Given the description of an element on the screen output the (x, y) to click on. 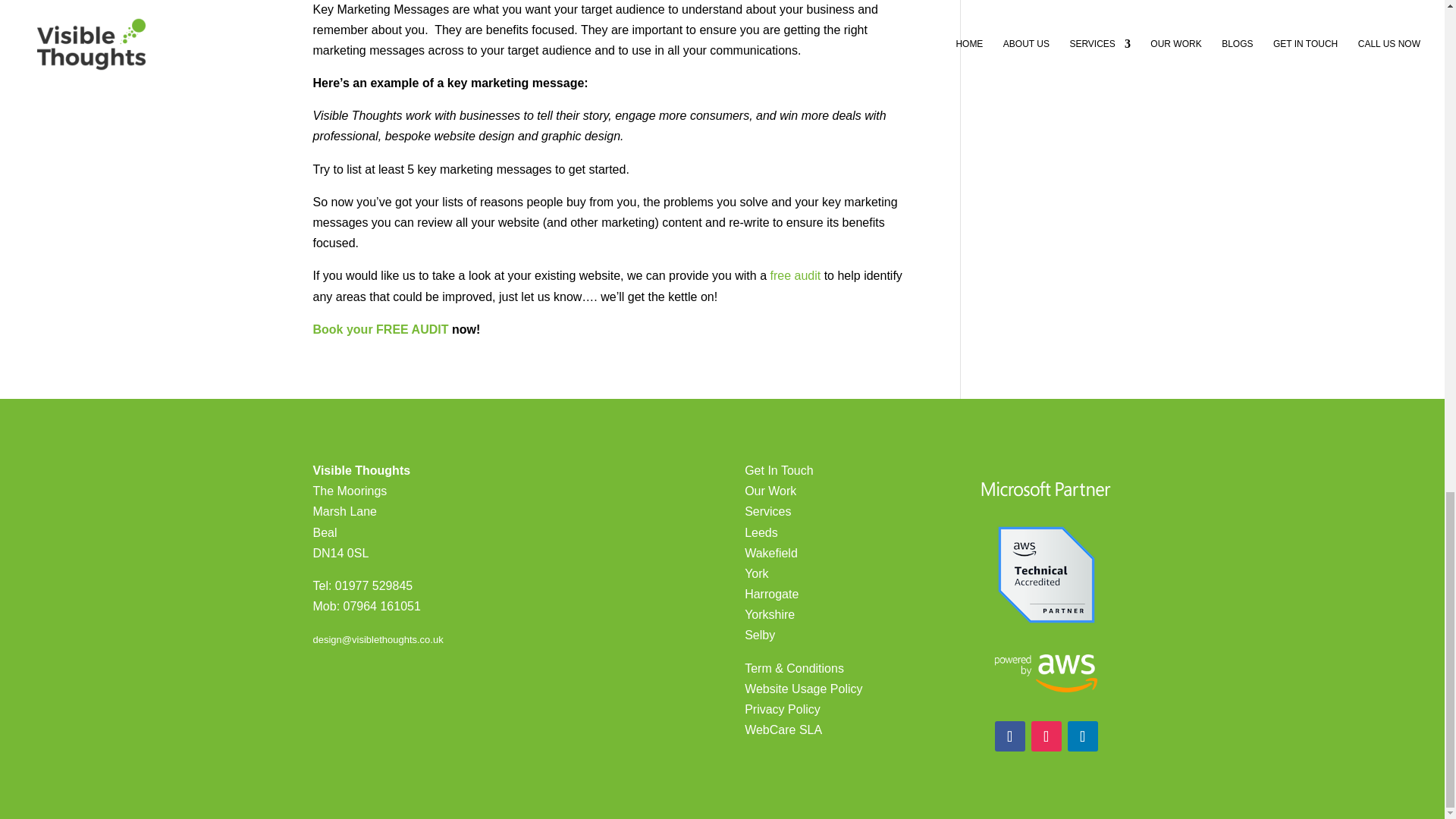
Follow on Facebook (1009, 736)
free audit (795, 275)
Follow on Instagram (1045, 736)
Website Partner Logo (1045, 488)
Follow on LinkedIn (1082, 736)
aws-partner-accreditation-technical (1046, 574)
Book your FREE AUDIT (380, 328)
